Given the description of an element on the screen output the (x, y) to click on. 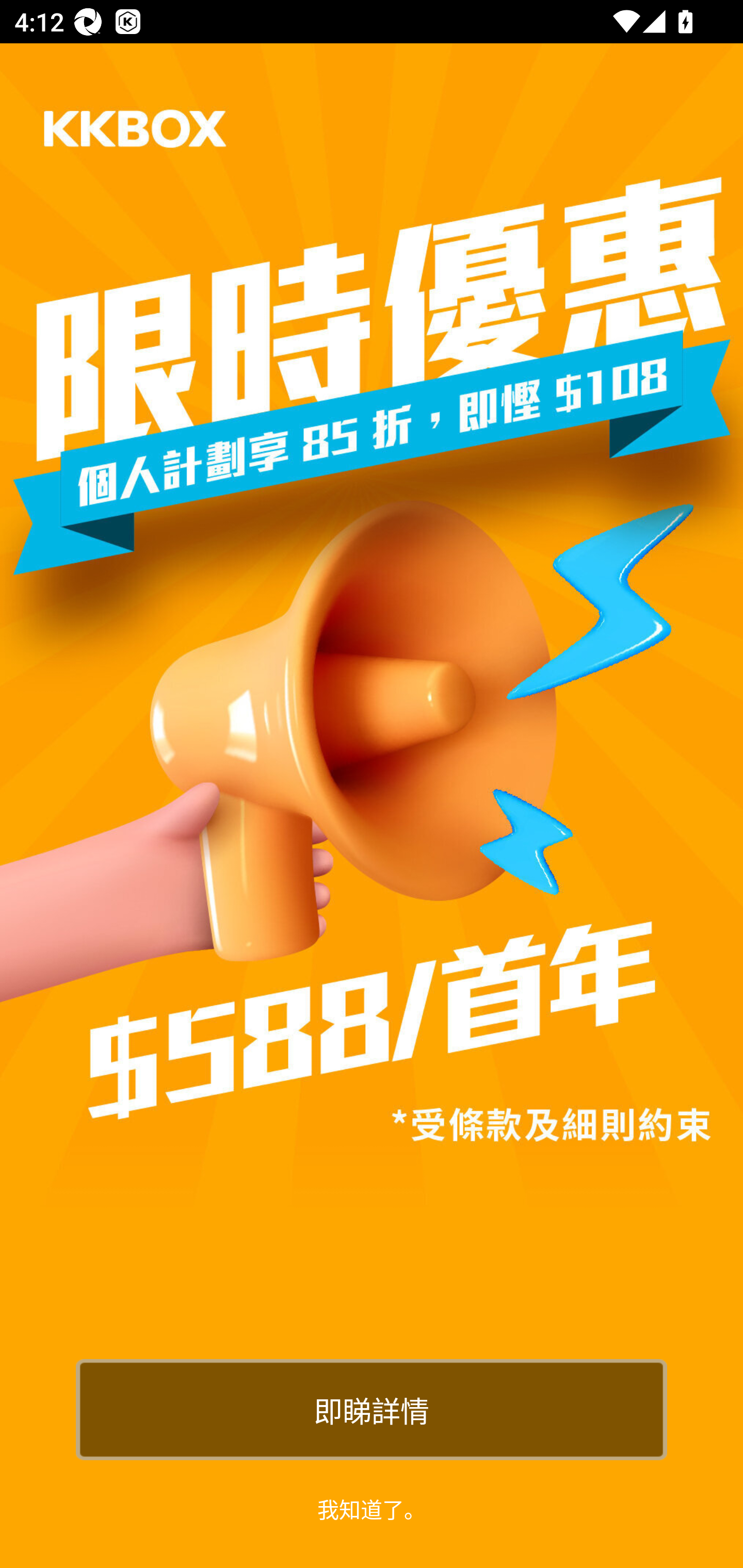
即睇詳情 (371, 1409)
我知道了。 (371, 1508)
